Given the description of an element on the screen output the (x, y) to click on. 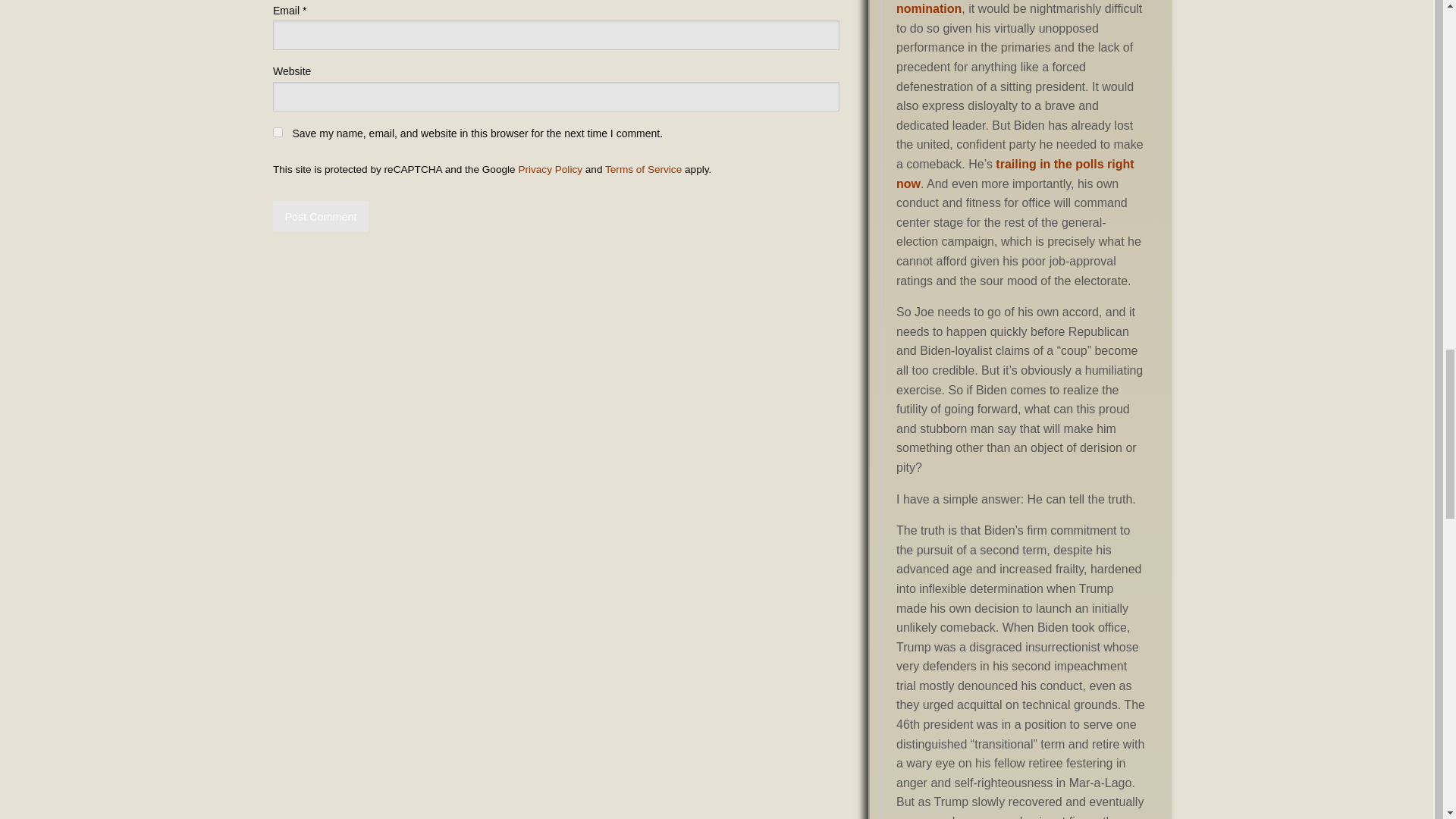
yes (277, 132)
Post Comment (320, 215)
Post Comment (320, 215)
Terms of Service (643, 169)
Privacy Policy (550, 169)
